Given the description of an element on the screen output the (x, y) to click on. 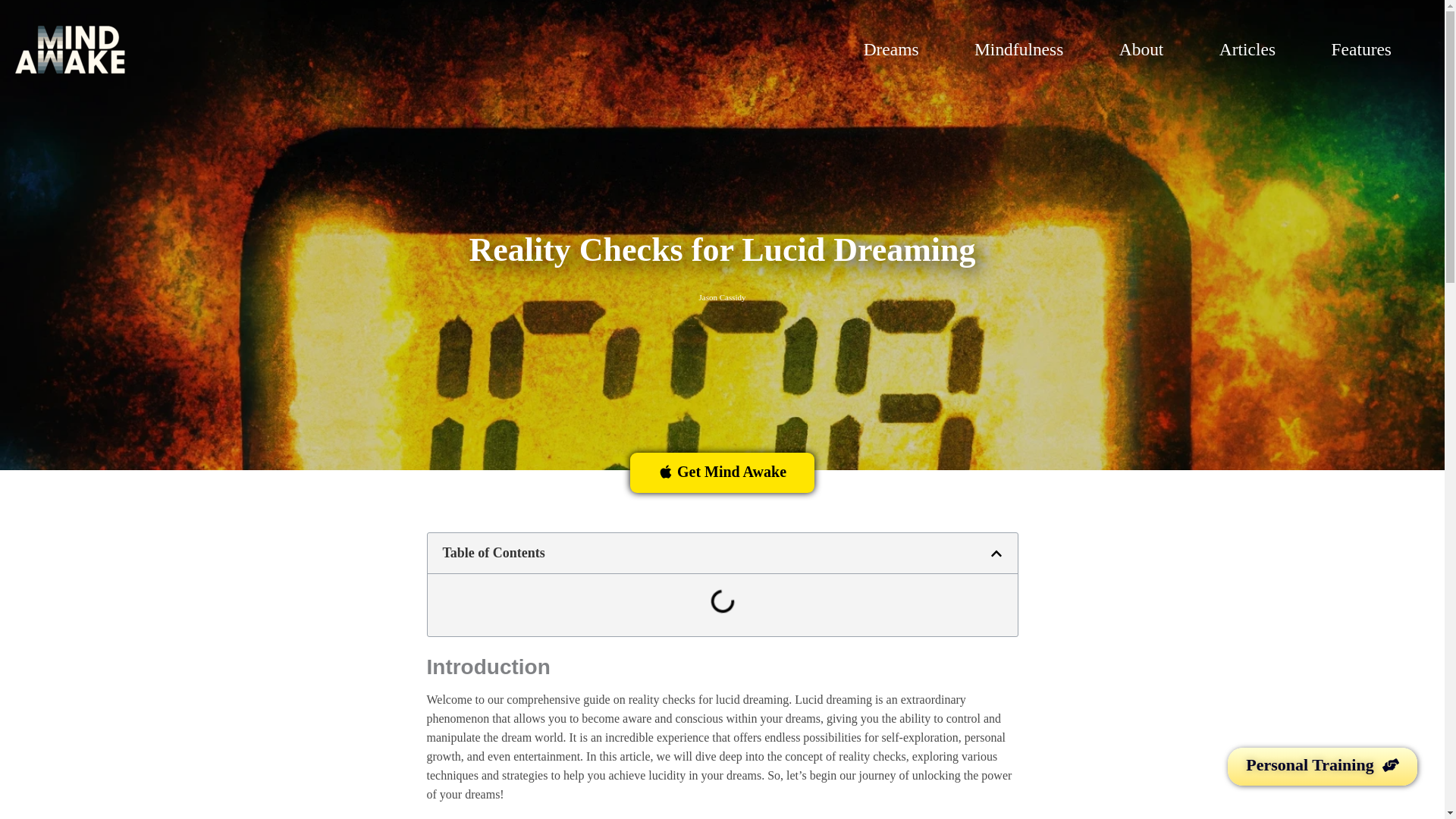
About (1150, 49)
Jason Cassidy (721, 296)
Dreams (900, 49)
Personal Training (1321, 766)
Mindfulness (1029, 49)
Features (1371, 49)
Articles (1257, 49)
Get Mind Awake (721, 472)
